Given the description of an element on the screen output the (x, y) to click on. 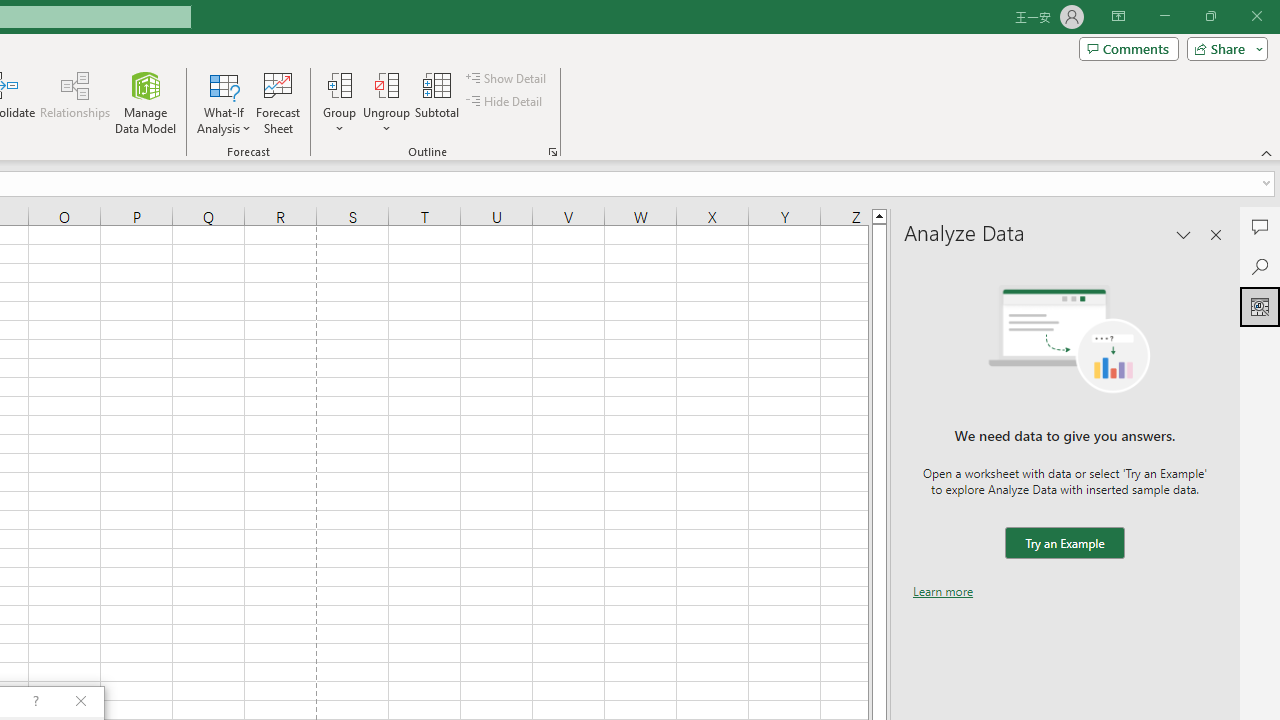
Forecast Sheet (278, 102)
Learn more (943, 591)
Analyze Data (1260, 306)
Search (1260, 266)
Relationships (75, 102)
Group and Outline Settings (552, 151)
Manage Data Model (145, 102)
Hide Detail (505, 101)
